Given the description of an element on the screen output the (x, y) to click on. 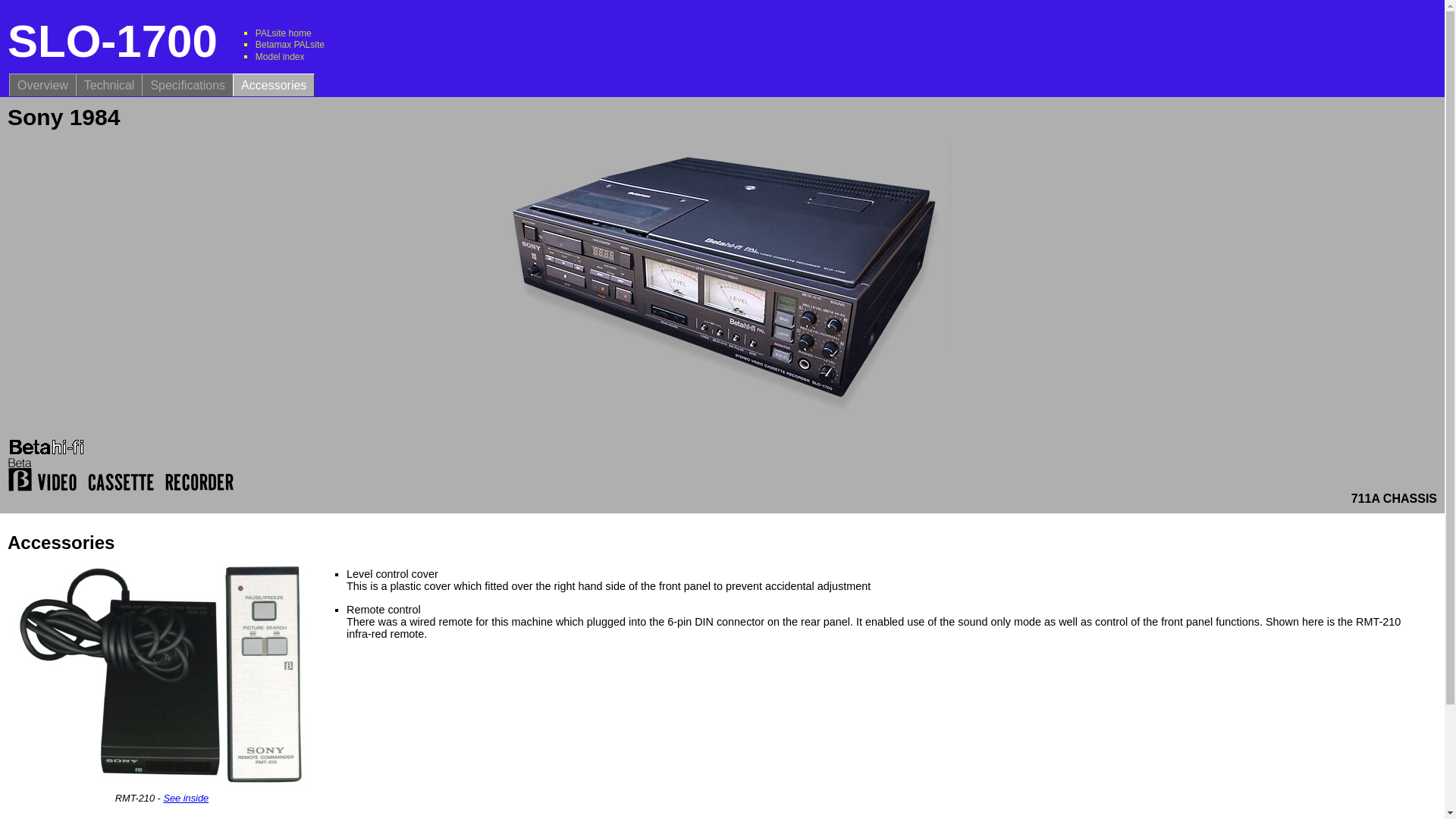
Accessories (273, 85)
Specifications (187, 85)
Model index (280, 56)
Technical (109, 85)
Betamax PALsite (290, 44)
Overview (42, 85)
See inside (185, 797)
PALsite home (283, 32)
